Given the description of an element on the screen output the (x, y) to click on. 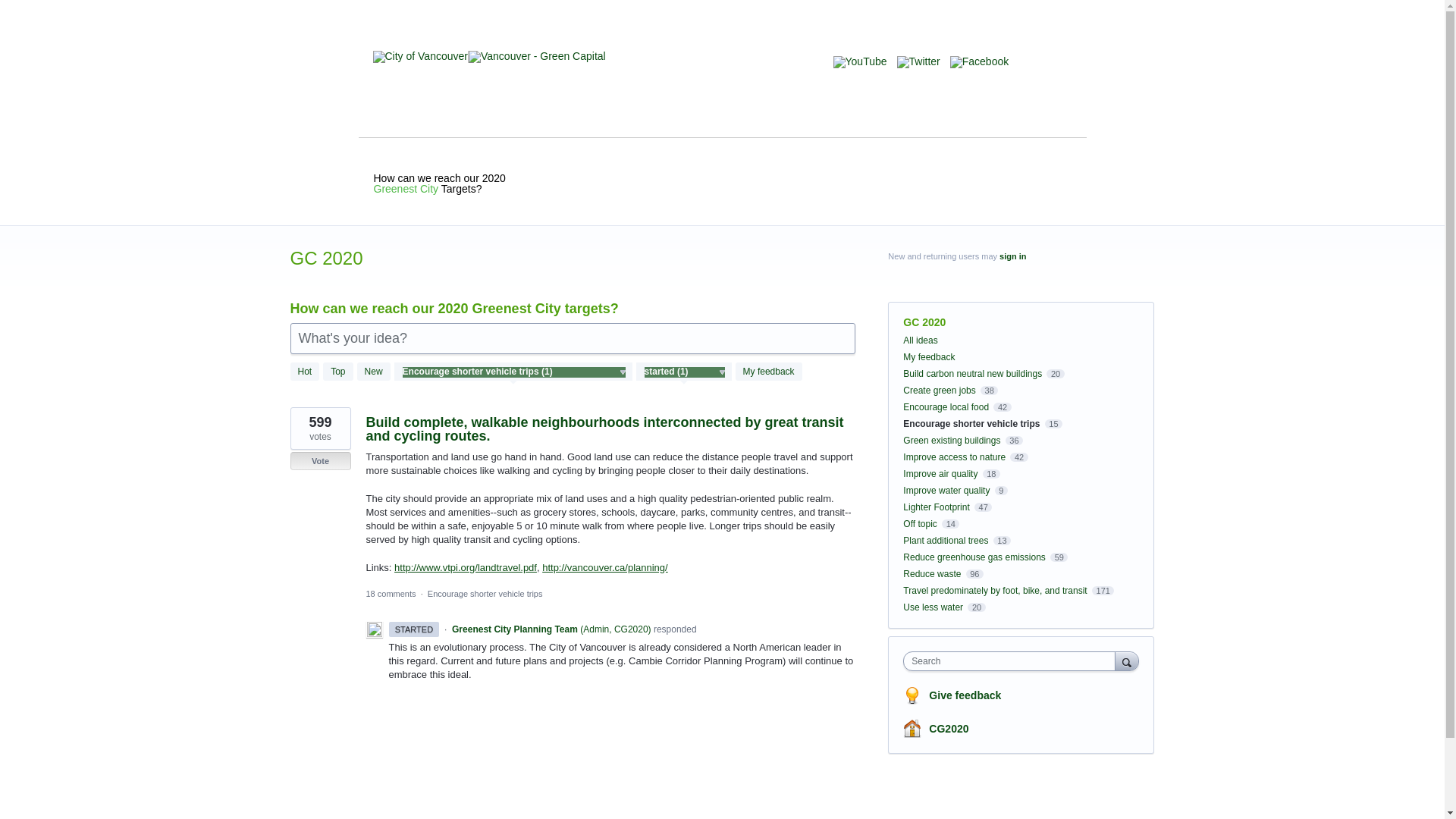
Talk Green To Us (989, 92)
Hot (303, 371)
New (373, 371)
Encourage shorter vehicle trips (485, 593)
Vote (319, 461)
Skip to content (12, 12)
My feedback (768, 371)
About (694, 80)
